Given the description of an element on the screen output the (x, y) to click on. 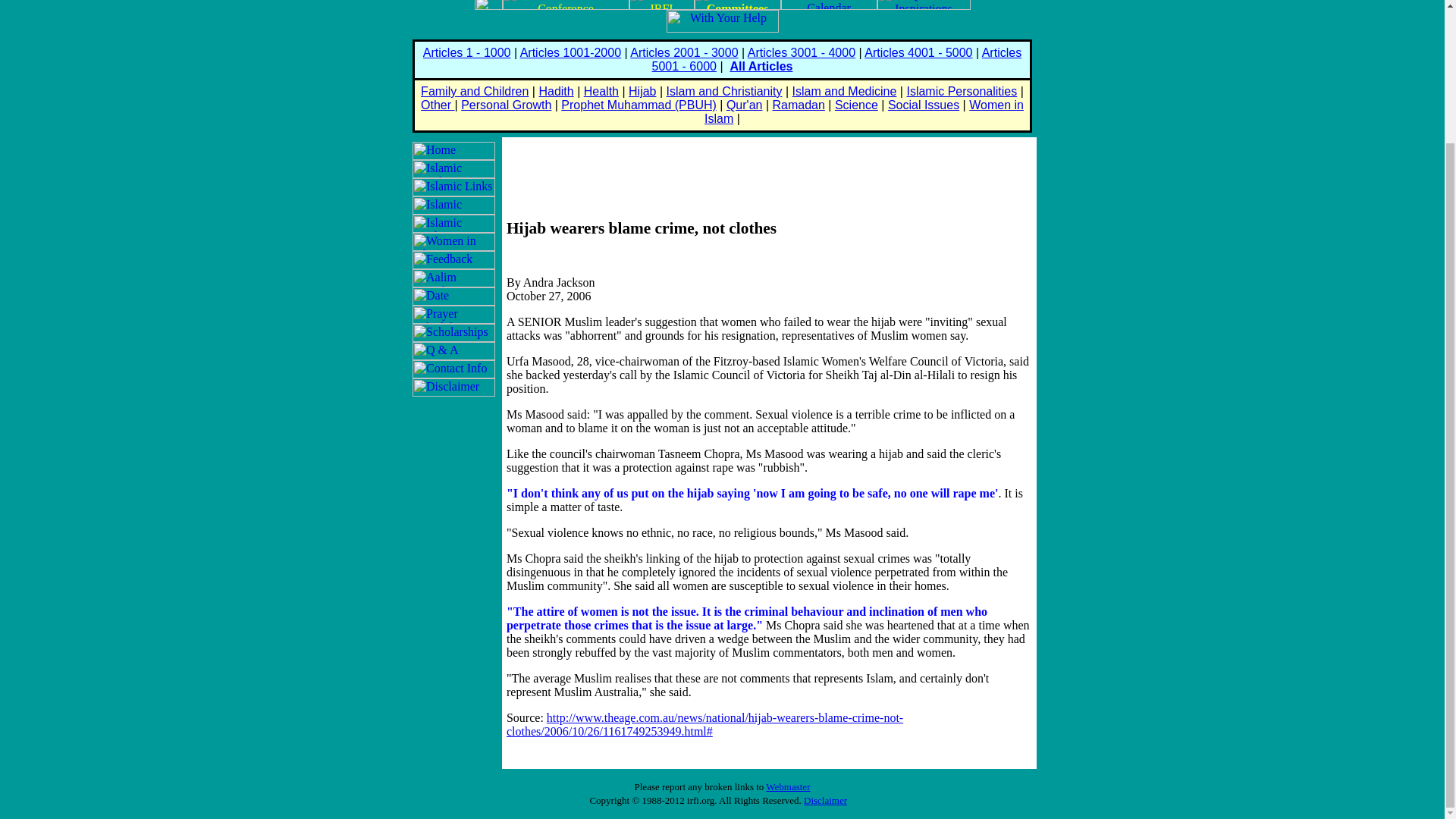
Articles 5001 - 6000 (837, 58)
Islamic Personalities (960, 91)
Hijab (642, 91)
Health (600, 91)
Articles 1 - 1000 (467, 51)
Family and Children (474, 91)
Articles 1001-2000 (570, 51)
Ramadan (797, 104)
All Articles (760, 65)
Articles 3001 - 4000 (802, 51)
Hadith (555, 91)
Islam and Medicine (844, 91)
Science (855, 104)
Articles 4001 - 5000 (918, 51)
Qur'an (744, 104)
